Given the description of an element on the screen output the (x, y) to click on. 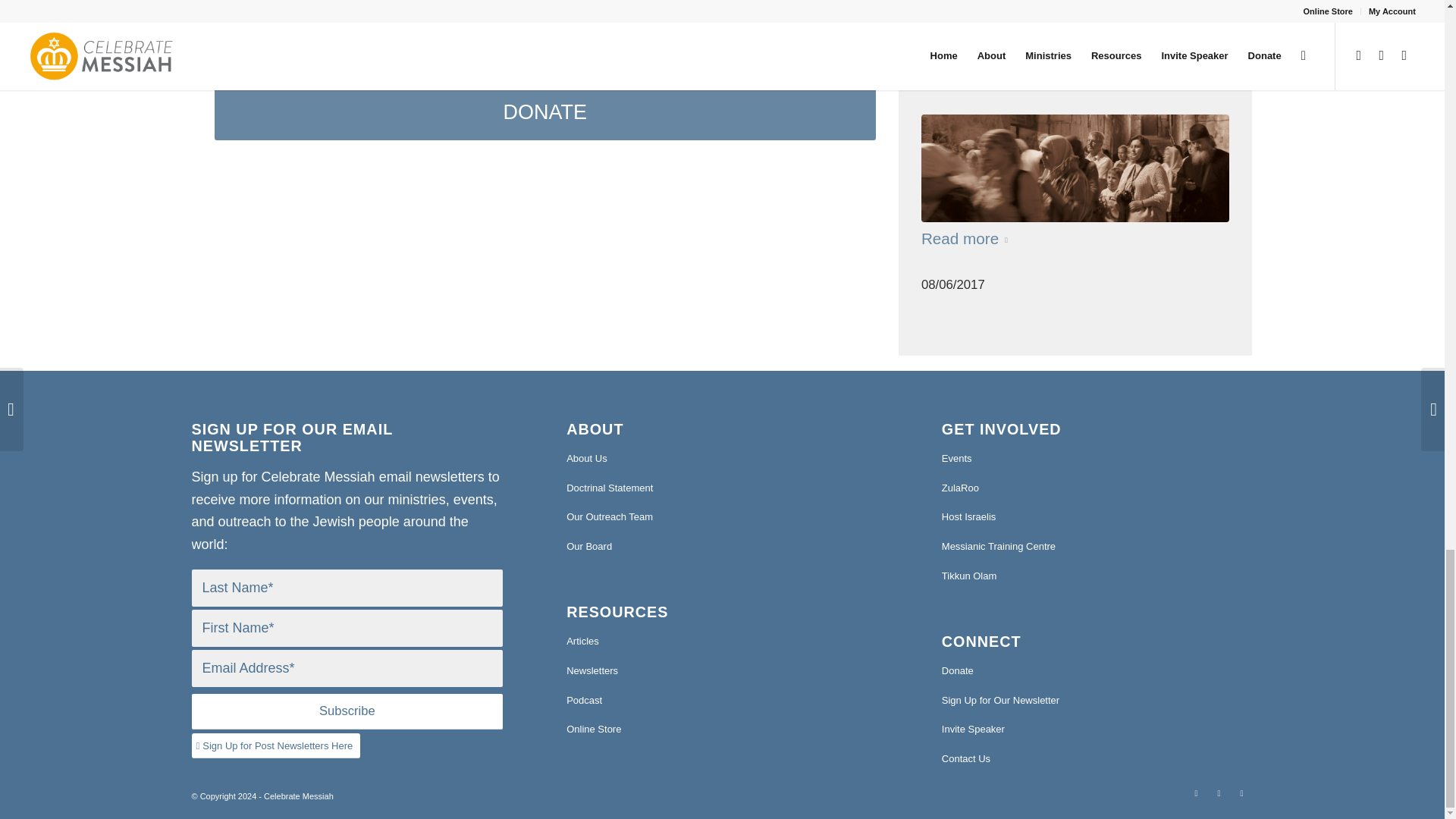
Facebook (1218, 793)
Instagram (1241, 793)
Permanent Link: New Immigrants Struggle in Israel (1068, 32)
Youtube (1196, 793)
Subscribe (346, 711)
